Given the description of an element on the screen output the (x, y) to click on. 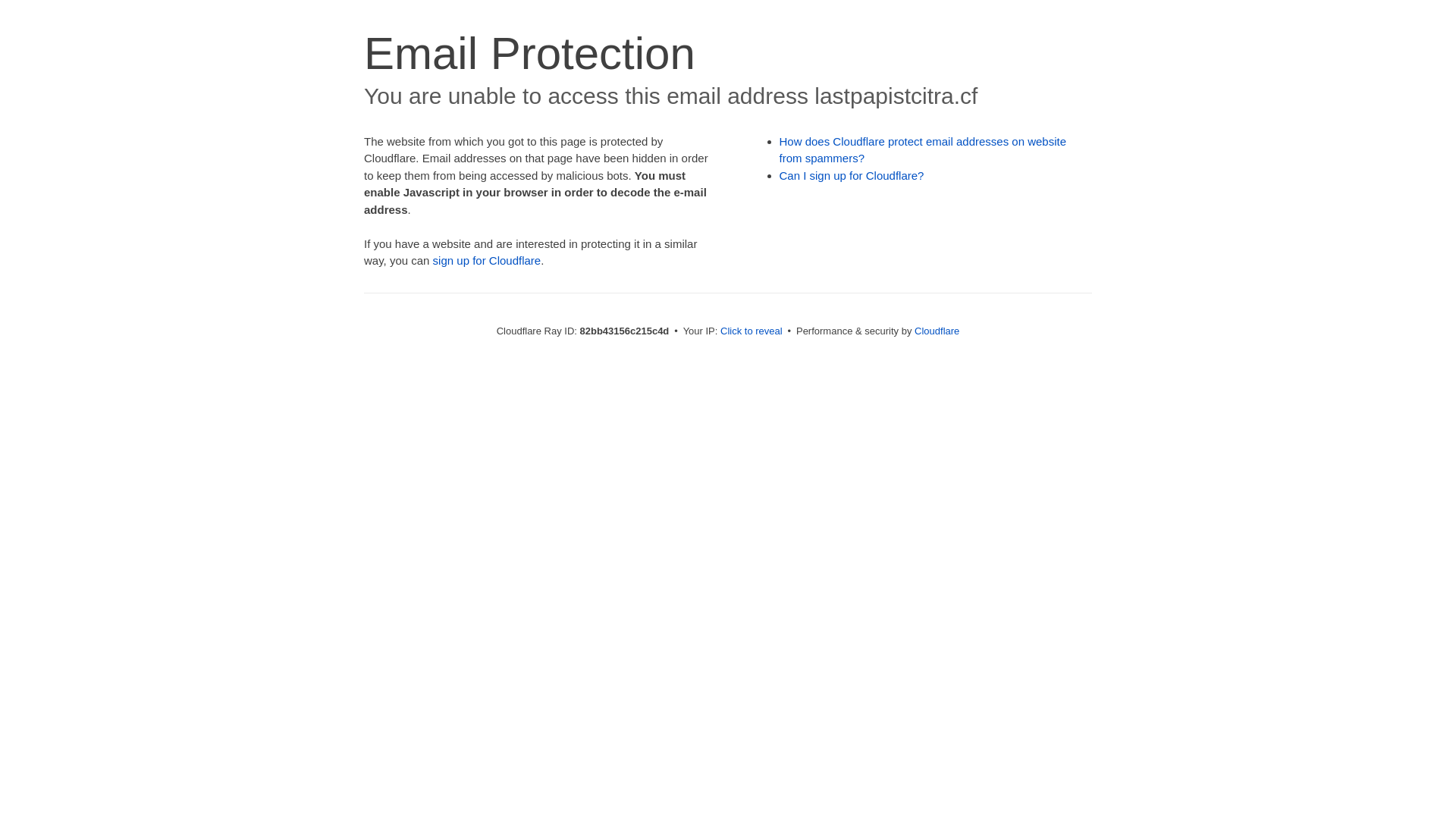
Click to reveal Element type: text (751, 330)
Cloudflare Element type: text (936, 330)
sign up for Cloudflare Element type: text (487, 260)
Can I sign up for Cloudflare? Element type: text (851, 175)
